Given the description of an element on the screen output the (x, y) to click on. 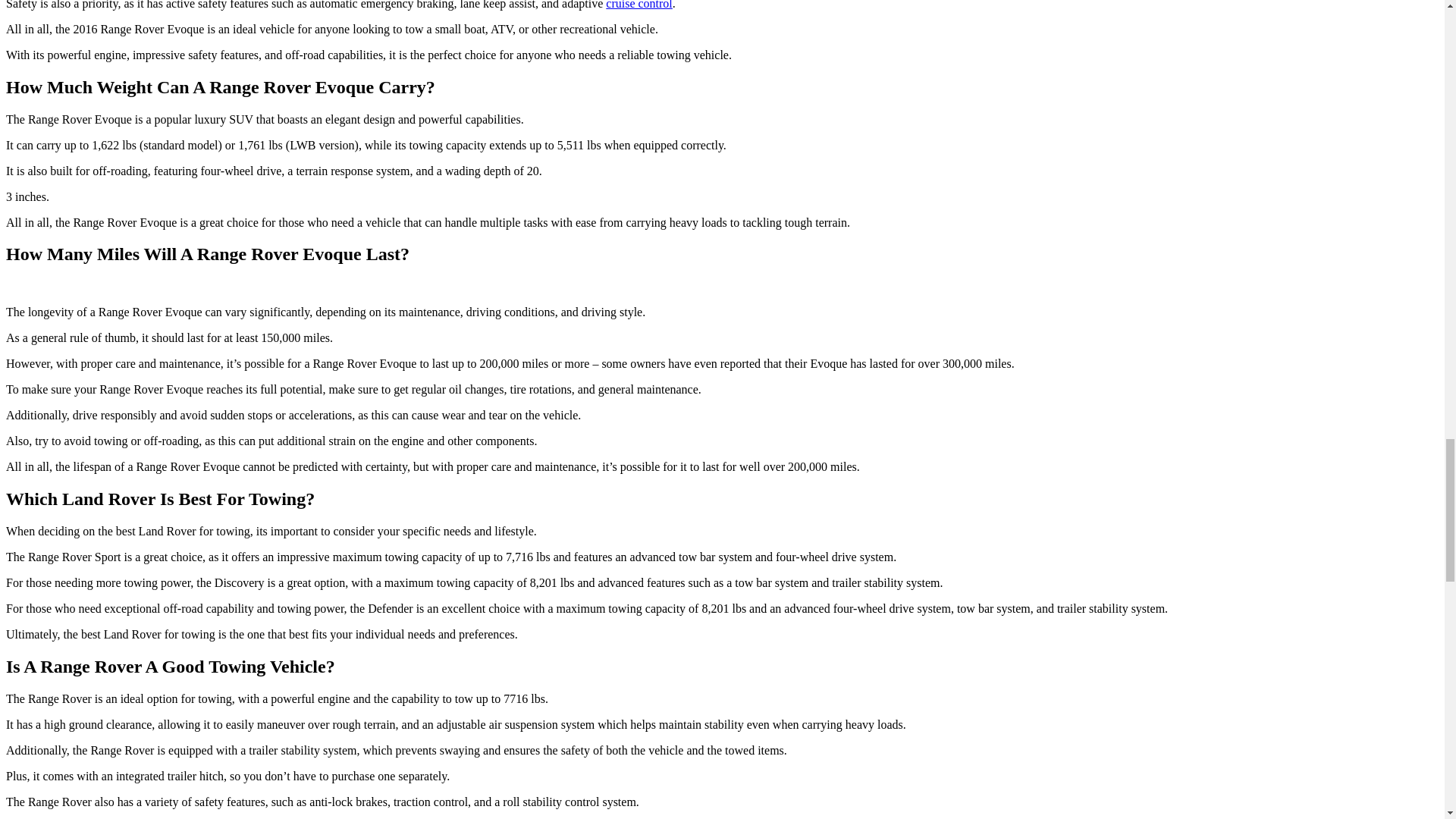
cruise control (638, 4)
